Given the description of an element on the screen output the (x, y) to click on. 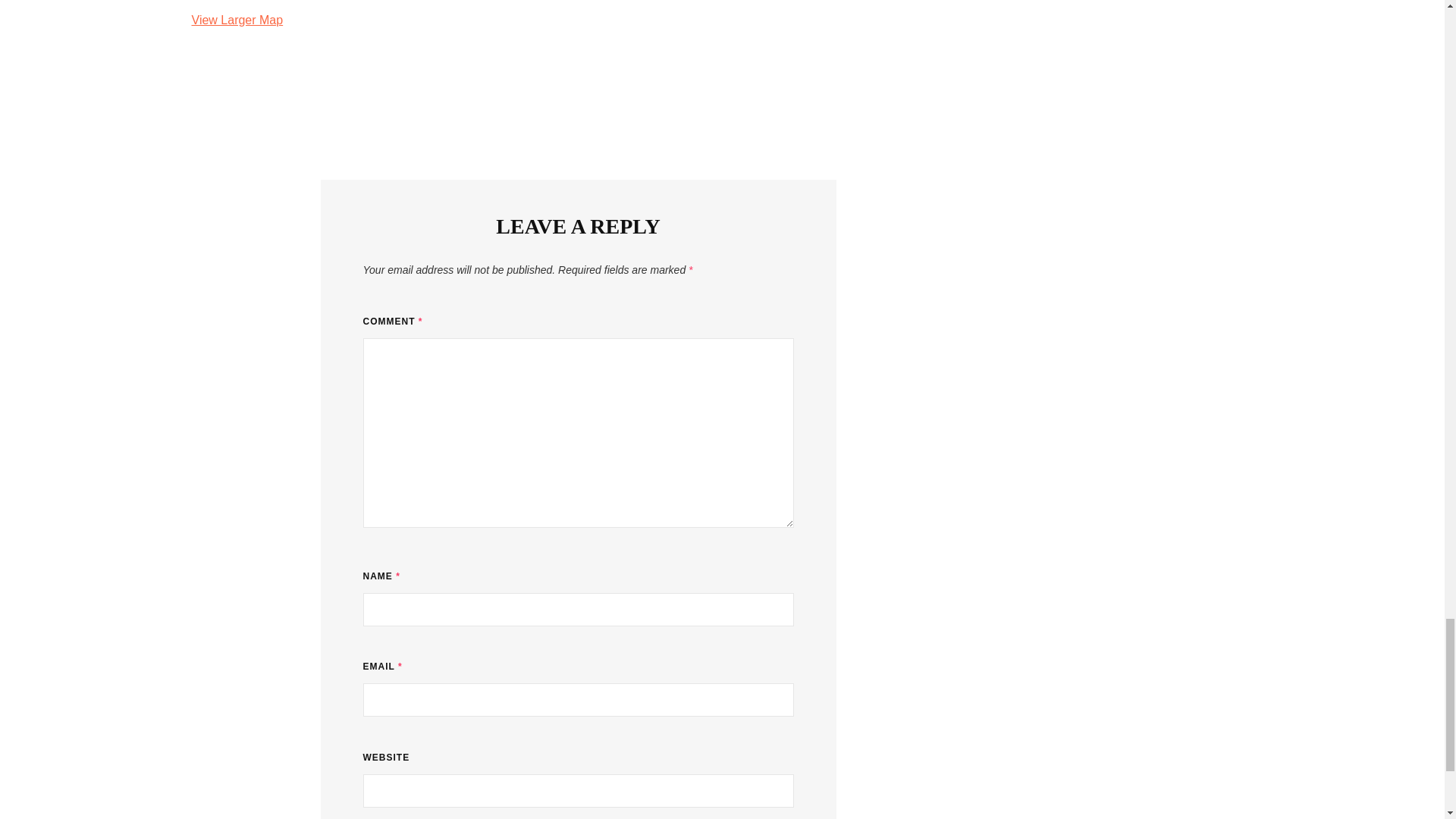
View Larger Map (236, 19)
